Given the description of an element on the screen output the (x, y) to click on. 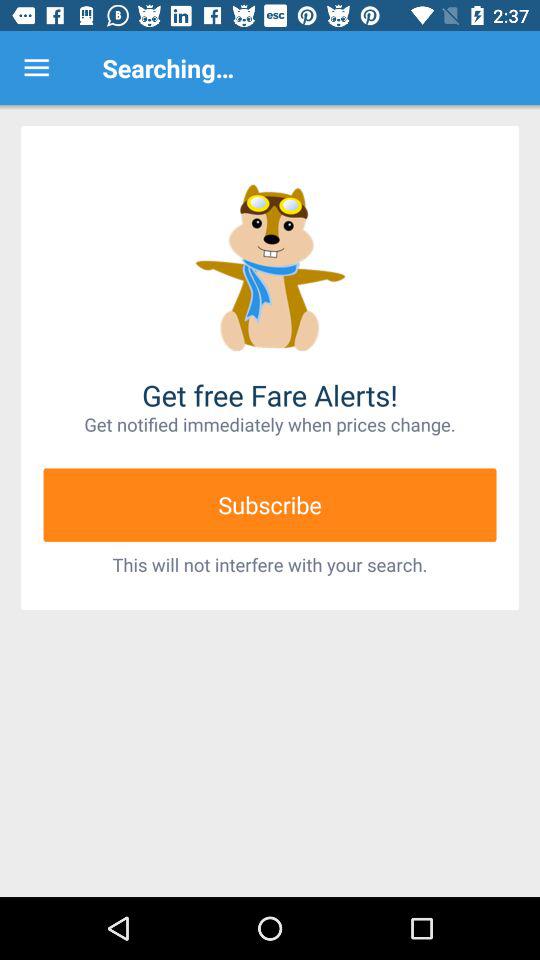
swipe to subscribe icon (269, 504)
